Given the description of an element on the screen output the (x, y) to click on. 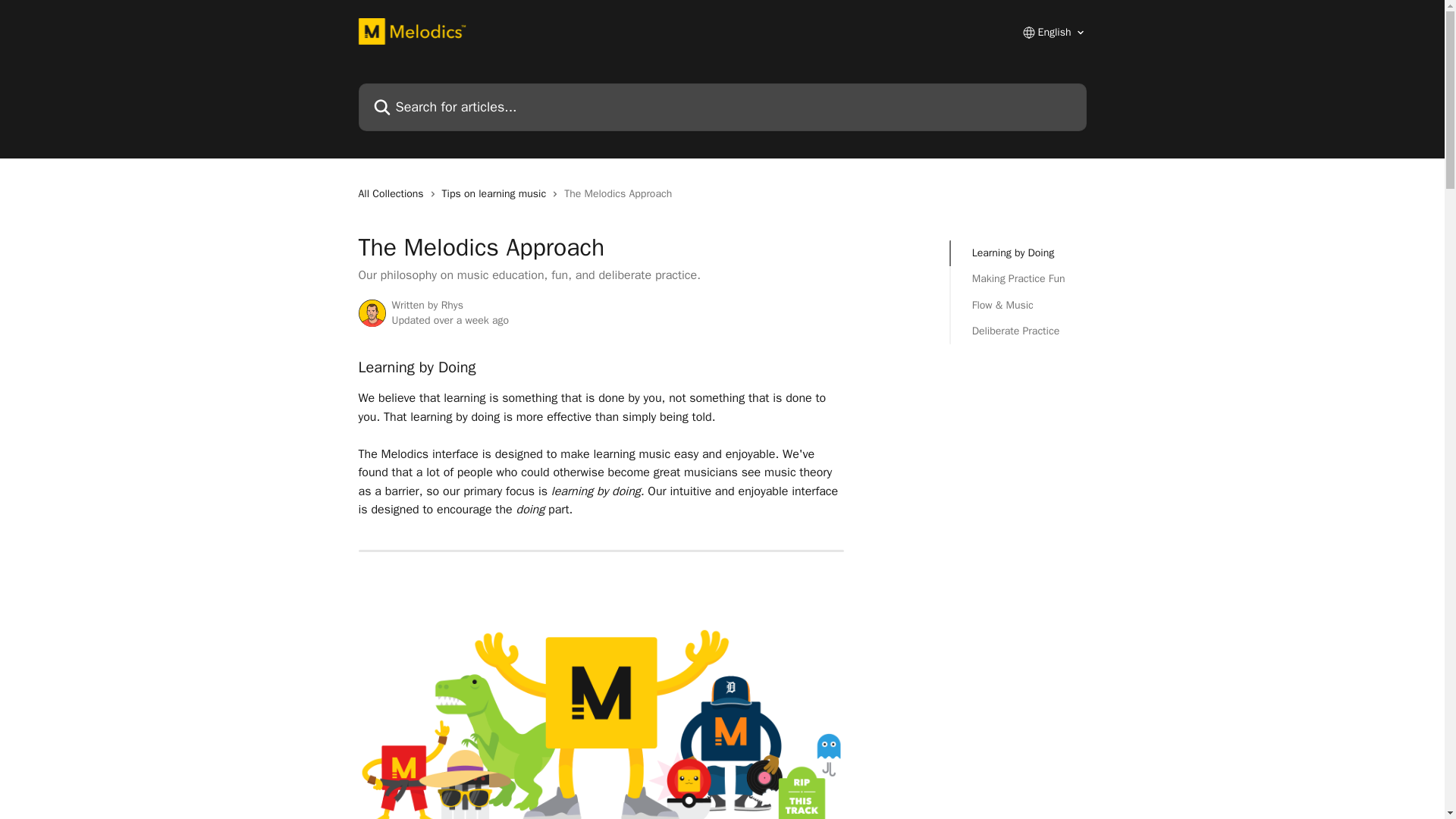
Tips on learning music (497, 193)
Deliberate Practice (1018, 330)
Making Practice Fun (1018, 279)
Learning by Doing (1018, 252)
All Collections (393, 193)
